Given the description of an element on the screen output the (x, y) to click on. 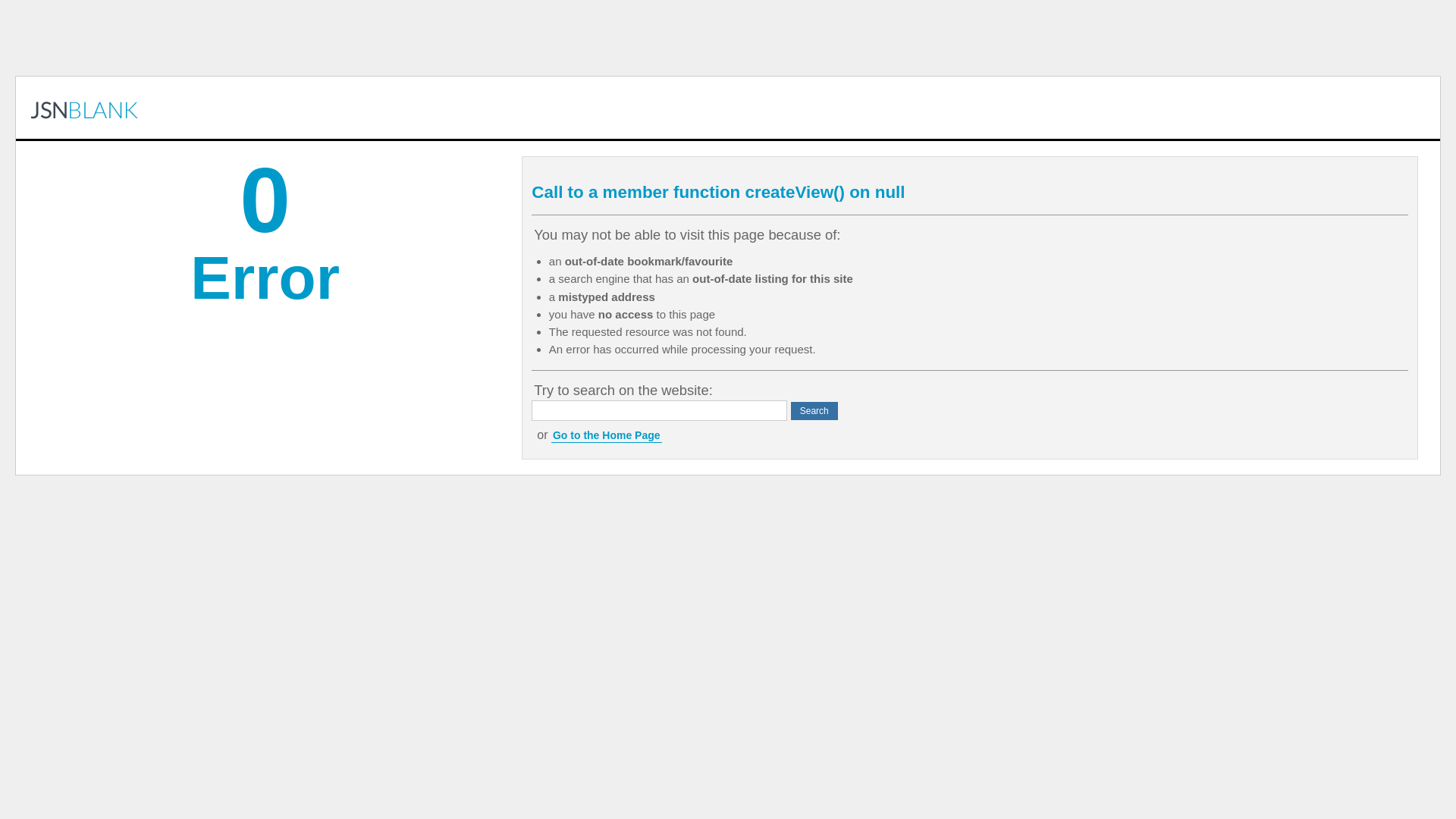
Lifts Melbourne Element type: hover (84, 107)
Go to the Home Page Element type: text (606, 435)
Search Element type: text (813, 410)
